Given the description of an element on the screen output the (x, y) to click on. 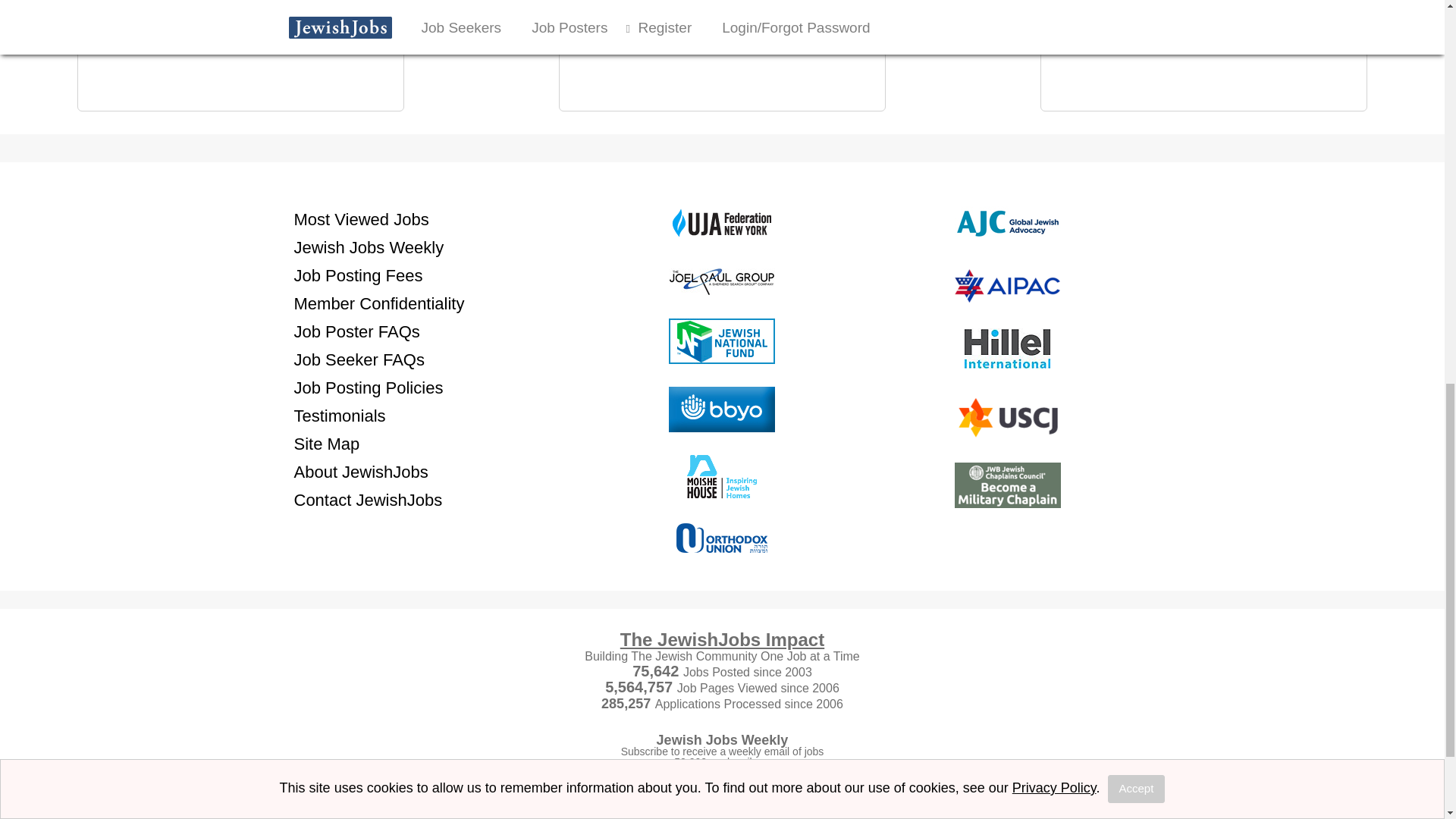
About JewishJobs (361, 471)
Testimonials (339, 415)
Job Posting Fees (358, 274)
Job Poster FAQs (357, 330)
Site Map (326, 443)
Member Confidentiality (379, 303)
Contact JewishJobs (368, 498)
Most Viewed Jobs (361, 218)
Job Seeker FAQs (359, 359)
Jewish Jobs Weekly (369, 247)
Job Posting Policies (369, 386)
